Given the description of an element on the screen output the (x, y) to click on. 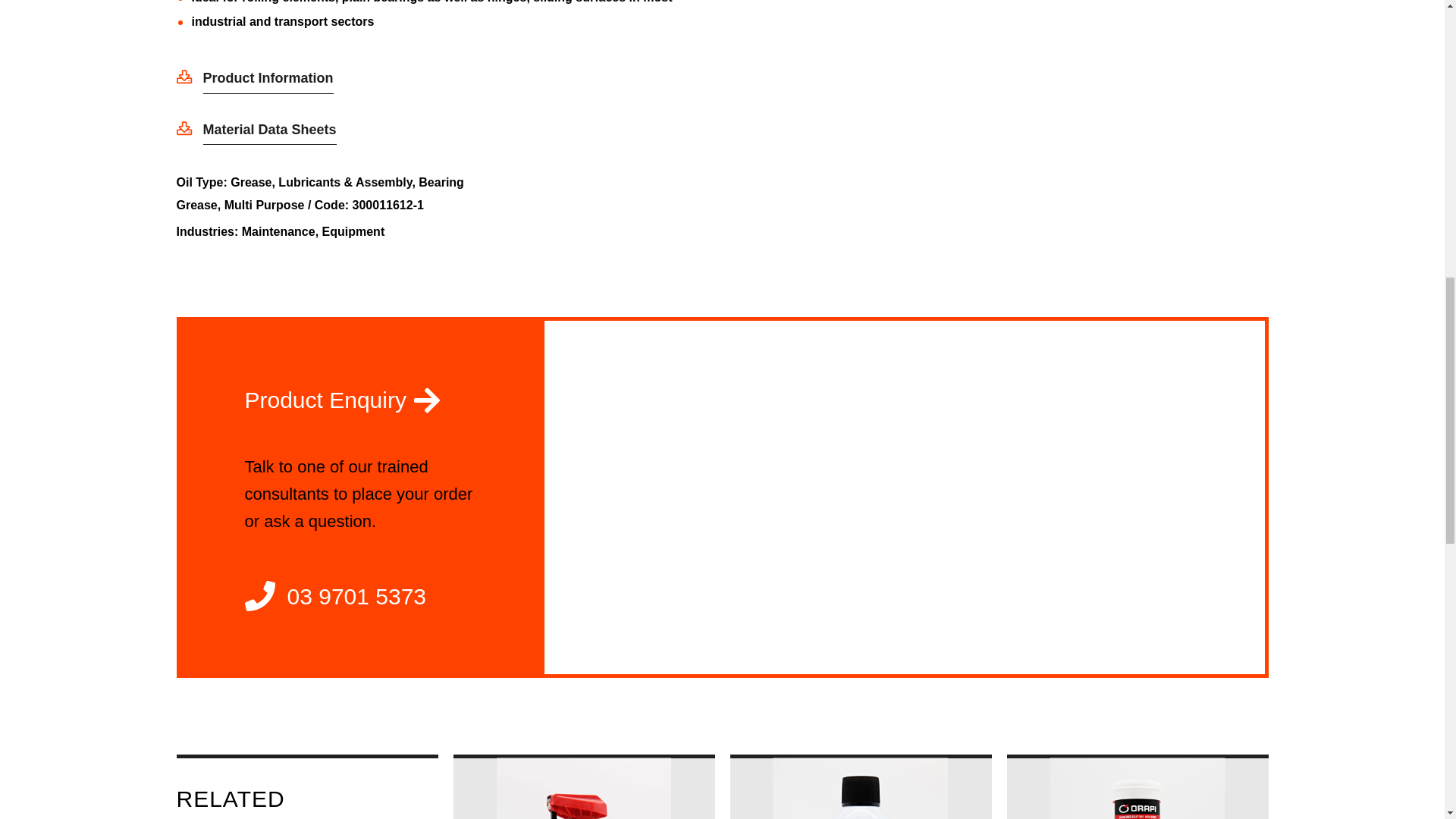
03 9701 5373 (361, 596)
Material Data Sheets (256, 129)
Product Information (254, 78)
